Given the description of an element on the screen output the (x, y) to click on. 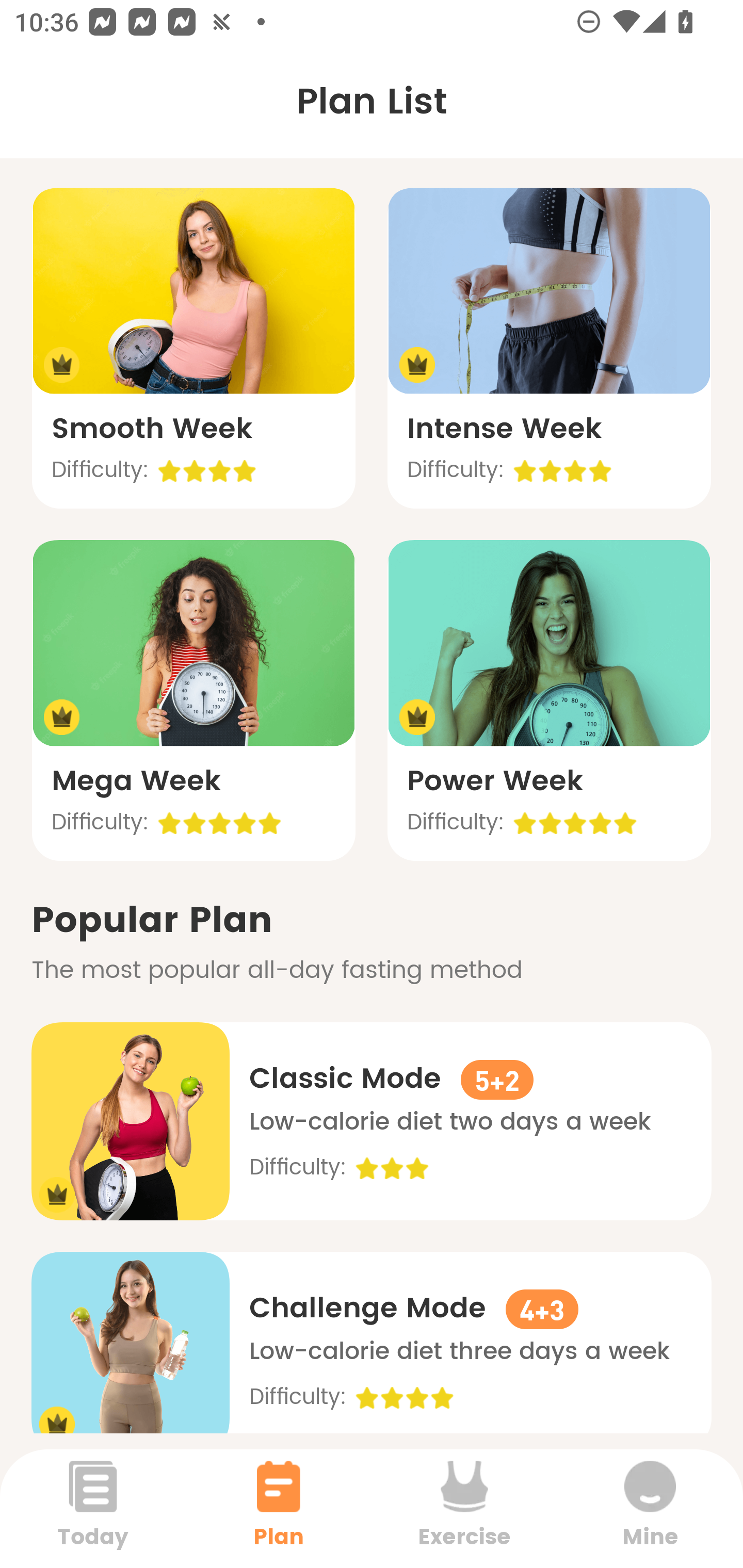
Smooth Week Difficulty: 4.0 (193, 348)
Intense Week Difficulty: 4.0 (549, 348)
Mega Week Difficulty: 5.0 (193, 699)
Power Week Difficulty: 5.0 (549, 699)
Today (92, 1508)
Exercise (464, 1508)
Mine (650, 1508)
